Given the description of an element on the screen output the (x, y) to click on. 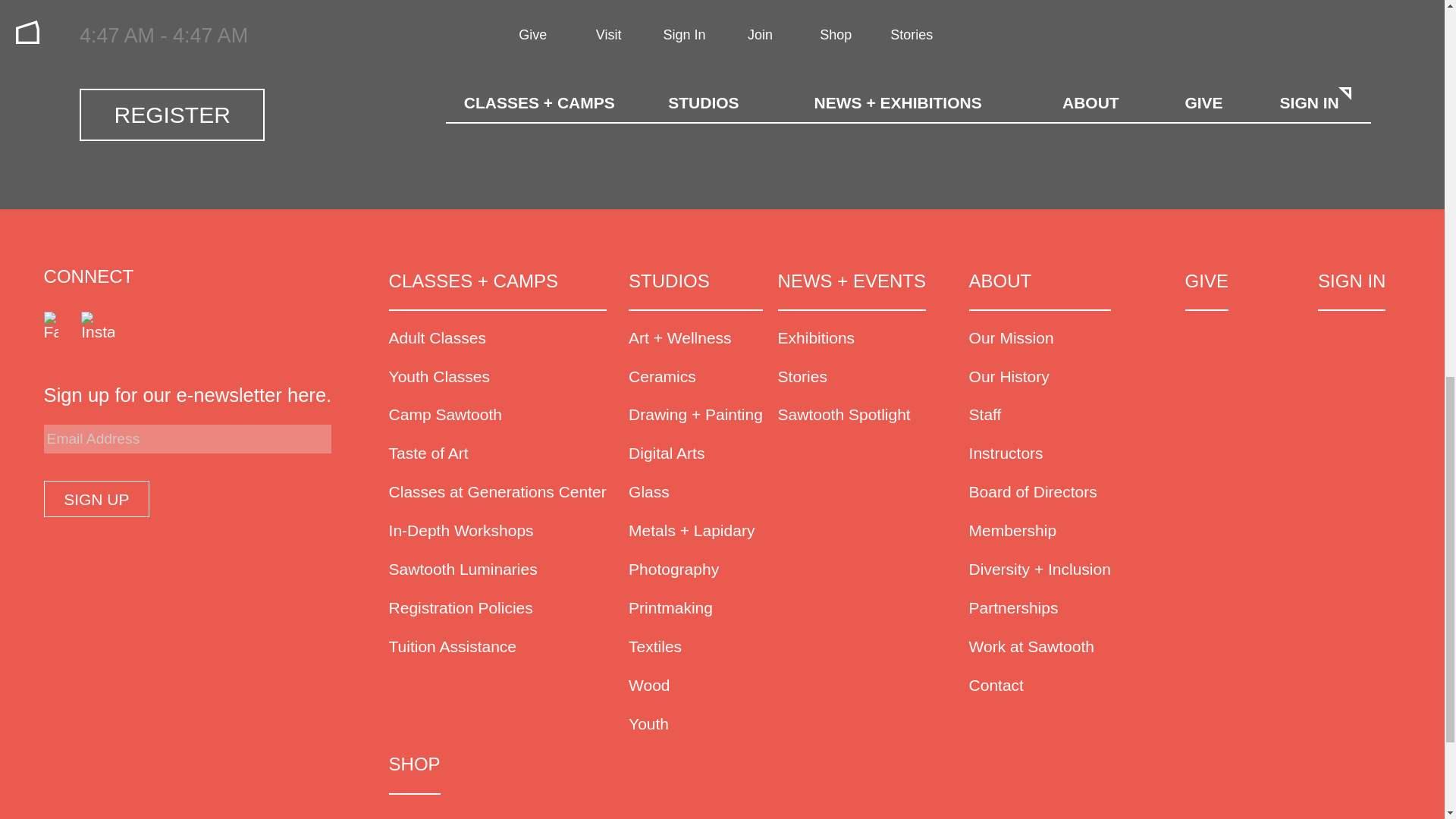
Sign Up (96, 498)
